Given the description of an element on the screen output the (x, y) to click on. 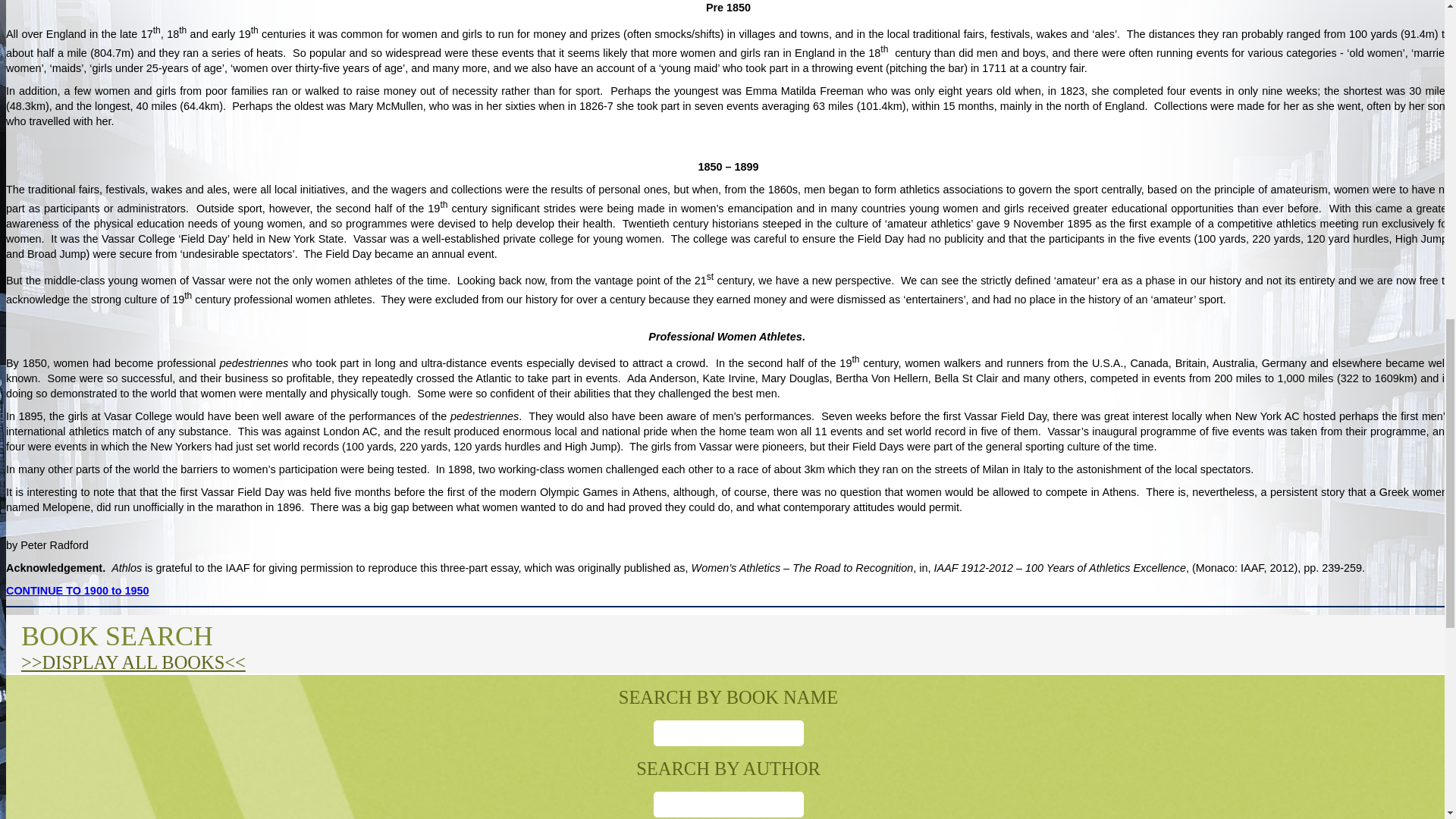
Women in Athletics - from 1900 - 1950 (76, 590)
BOOK SEARCH (116, 635)
CONTINUE TO 1900 to 1950 (76, 590)
